Given the description of an element on the screen output the (x, y) to click on. 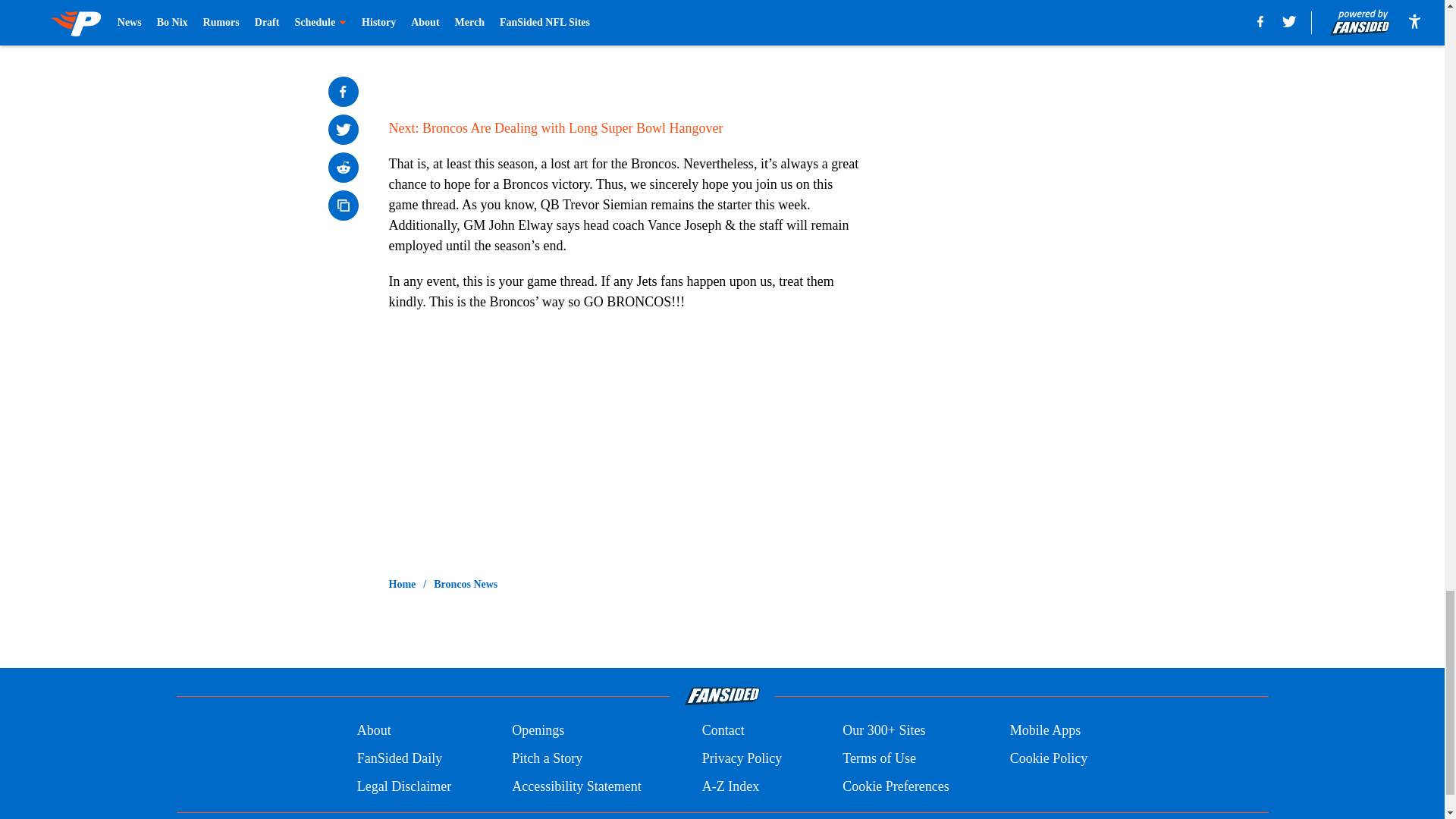
Privacy Policy (742, 758)
Broncos News (465, 584)
Pitch a Story (547, 758)
About (373, 730)
Next: Broncos Are Dealing with Long Super Bowl Hangover (555, 127)
Legal Disclaimer (403, 786)
Contact (722, 730)
Openings (538, 730)
Accessibility Statement (576, 786)
FanSided Daily (399, 758)
